Given the description of an element on the screen output the (x, y) to click on. 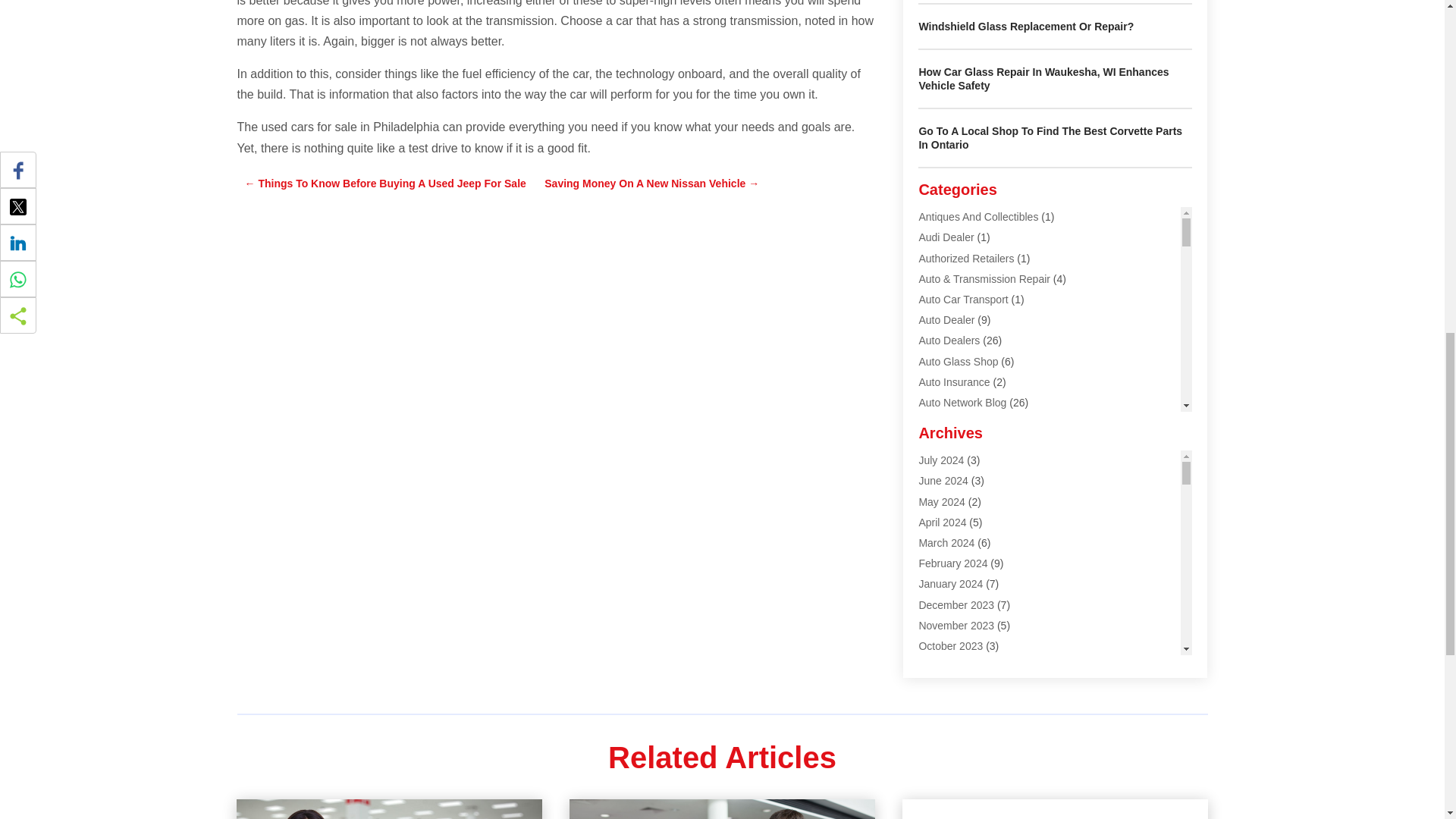
Auto Insurance (954, 381)
Audi Dealer (946, 236)
Antiques And Collectibles (978, 216)
Auto Parts (943, 422)
How Car Glass Repair In Waukesha, WI Enhances Vehicle Safety (1043, 78)
Auto Parts Store (956, 443)
Auto Dealers (948, 340)
Auto Dealer (946, 319)
Authorized Retailers (965, 258)
Auto Network Blog (962, 402)
Windshield Glass Replacement Or Repair? (1026, 26)
Auto Glass Shop (957, 360)
Auto Car Transport (962, 299)
